Given the description of an element on the screen output the (x, y) to click on. 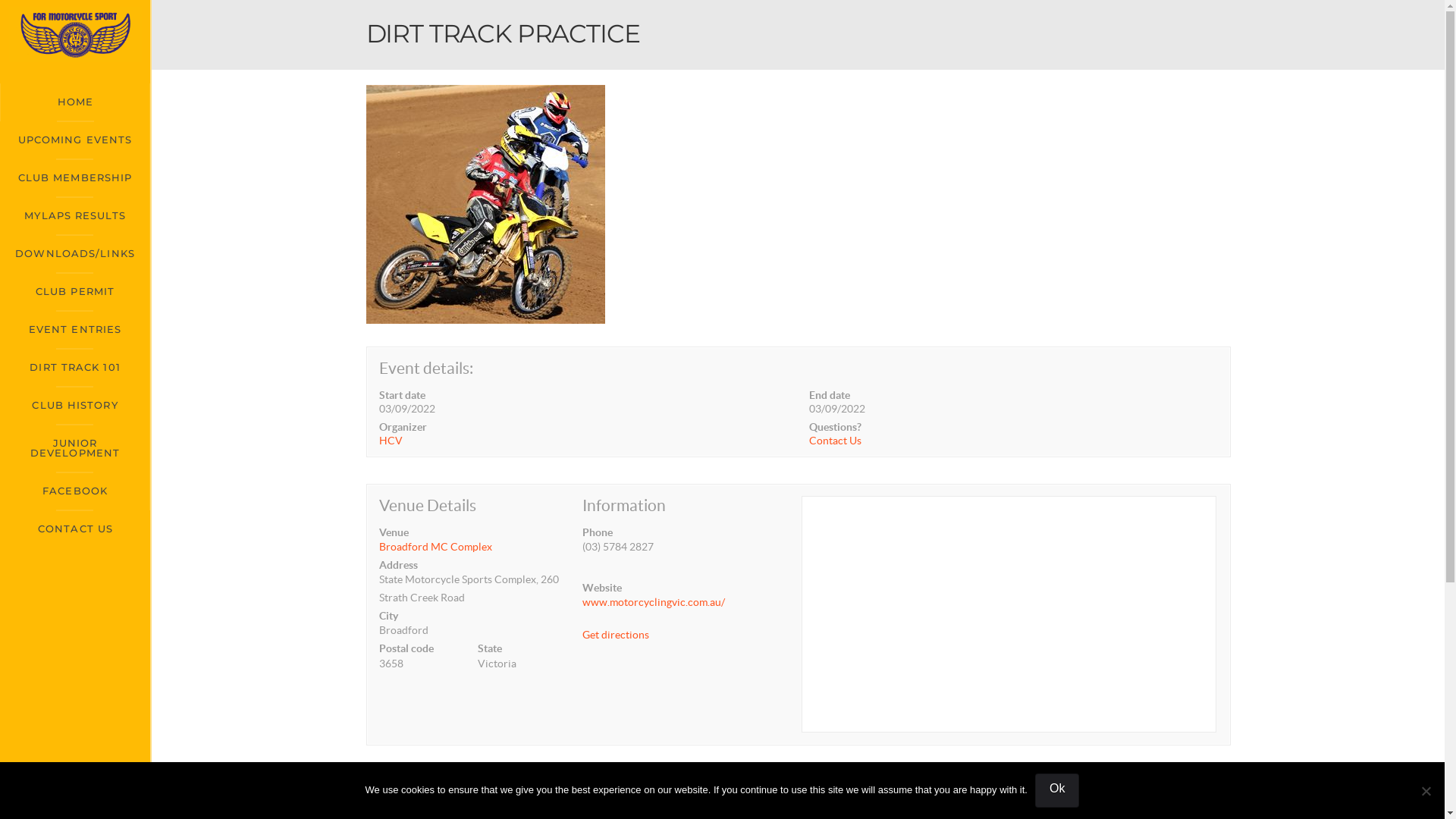
Get directions Element type: text (615, 634)
EVENT ENTRIES Element type: text (75, 329)
DOWNLOADS/LINKS Element type: text (75, 254)
Ok Element type: text (1057, 790)
CLUB PERMIT Element type: text (75, 291)
JUNIOR DEVELOPMENT Element type: text (75, 448)
FACEBOOK Element type: text (75, 491)
CONTACT US Element type: text (75, 529)
UPCOMING EVENTS Element type: text (75, 140)
HCV Element type: text (583, 440)
MYLAPS RESULTS Element type: text (75, 216)
CLUB MEMBERSHIP Element type: text (75, 178)
Contact Us Element type: text (835, 440)
HOME Element type: text (75, 102)
DIRT TRACK 101 Element type: text (75, 367)
www.motorcyclingvic.com.au/ Element type: text (653, 602)
CLUB HISTORY Element type: text (75, 405)
Broadford MC Complex Element type: text (475, 546)
